Given the description of an element on the screen output the (x, y) to click on. 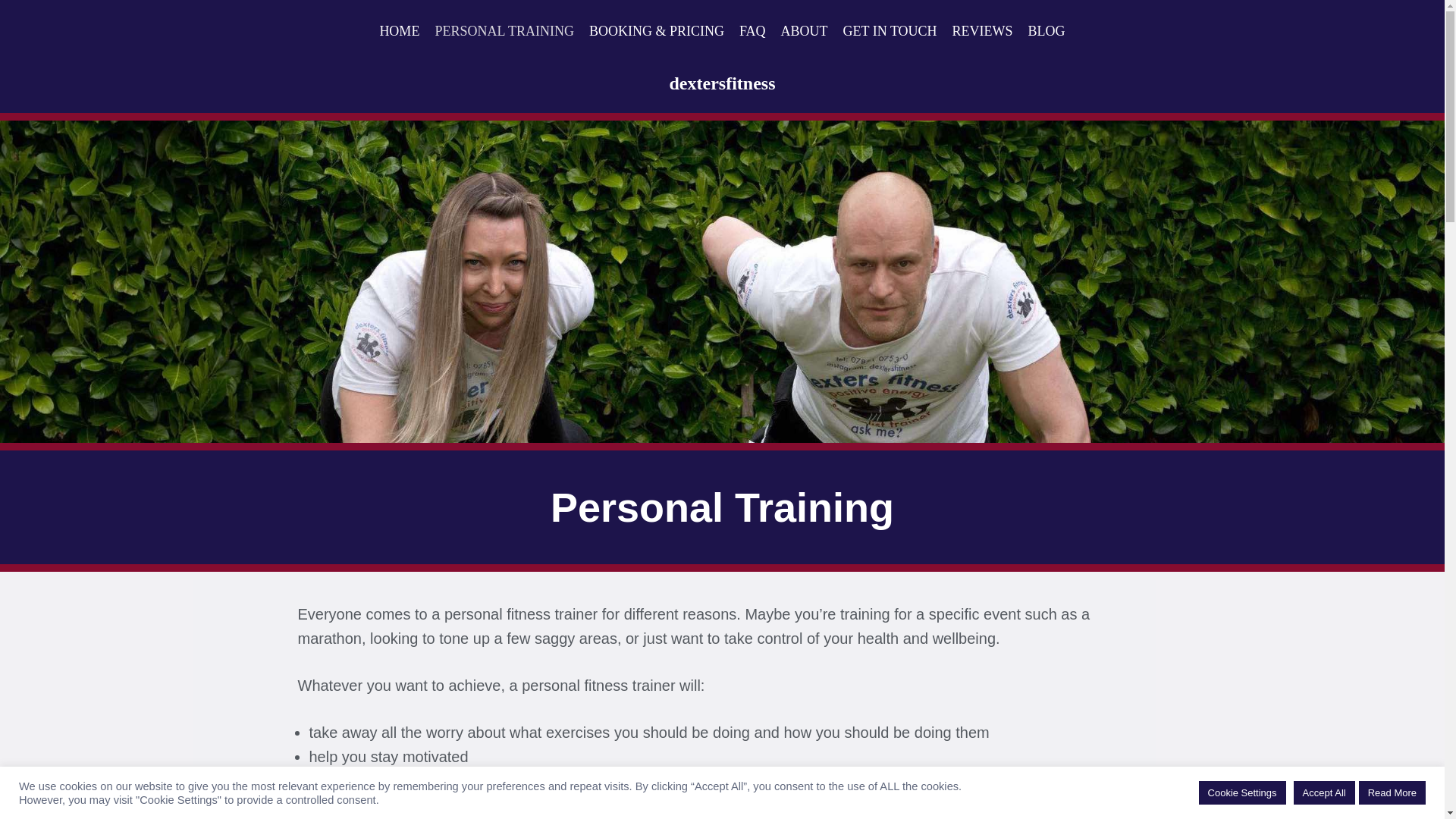
ABOUT (804, 31)
BLOG (1046, 31)
Read More (1391, 792)
Skip to content (11, 31)
REVIEWS (982, 31)
FAQ (752, 31)
Accept All (1324, 792)
Cookie Settings (1241, 792)
GET IN TOUCH (890, 31)
dextersfitness (722, 83)
